Given the description of an element on the screen output the (x, y) to click on. 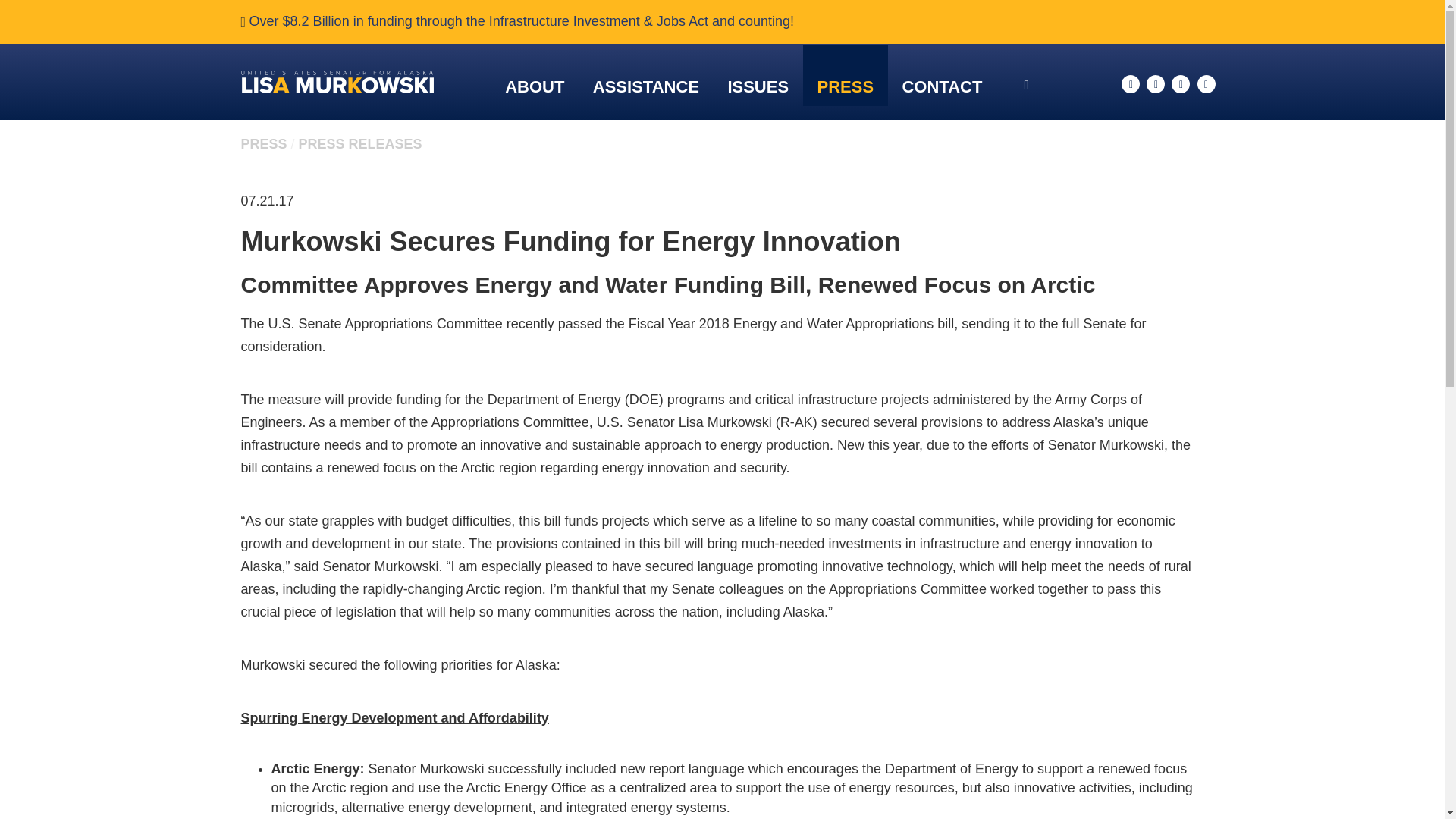
ASSISTANCE (645, 86)
ABOUT (535, 86)
